Given the description of an element on the screen output the (x, y) to click on. 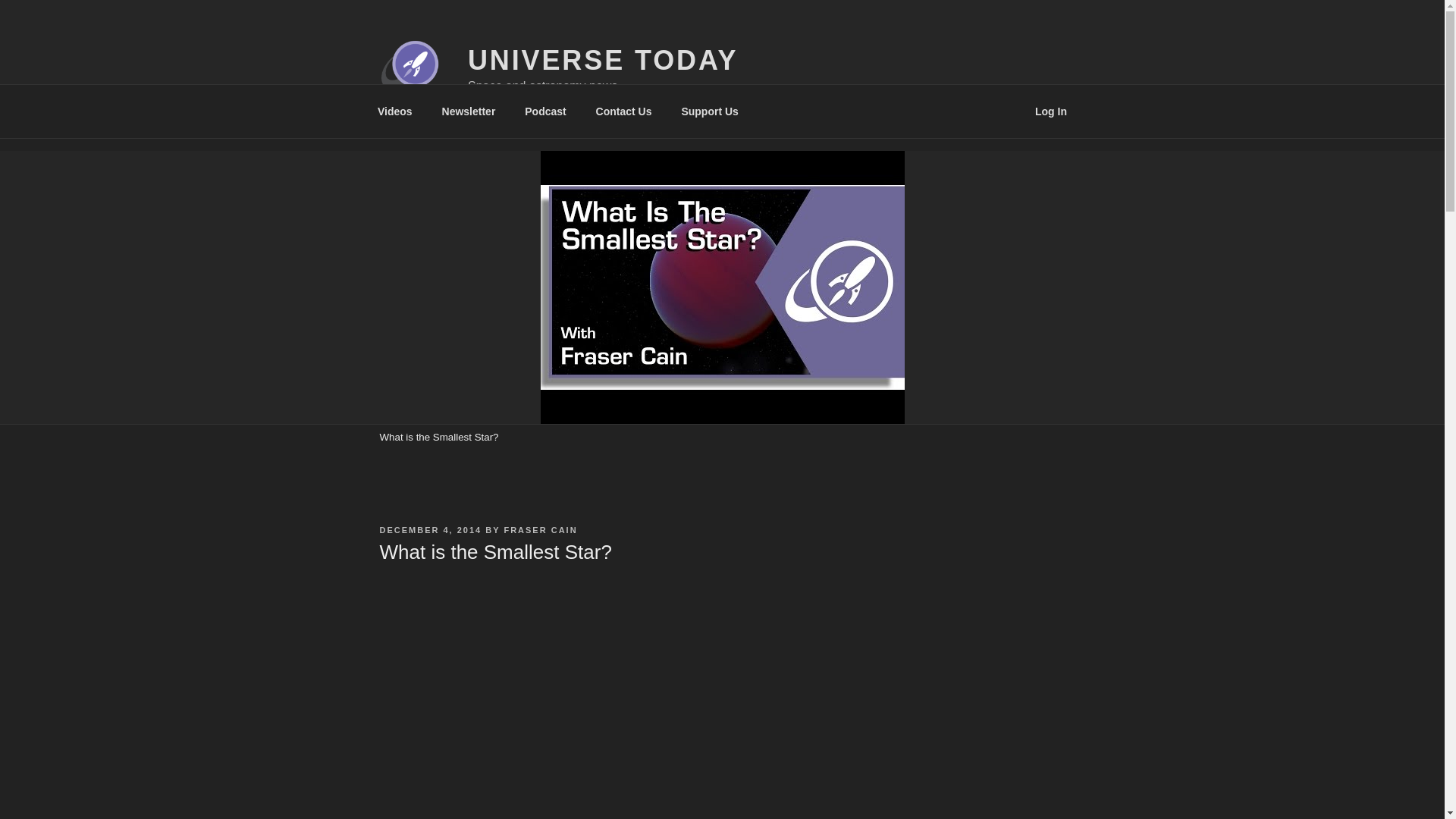
UNIVERSE TODAY (602, 60)
Videos (394, 110)
Podcast (545, 110)
Support Us (709, 110)
Log In (1051, 110)
Newsletter (468, 110)
Contact Us (623, 110)
FRASER CAIN (539, 529)
DECEMBER 4, 2014 (429, 529)
